Given the description of an element on the screen output the (x, y) to click on. 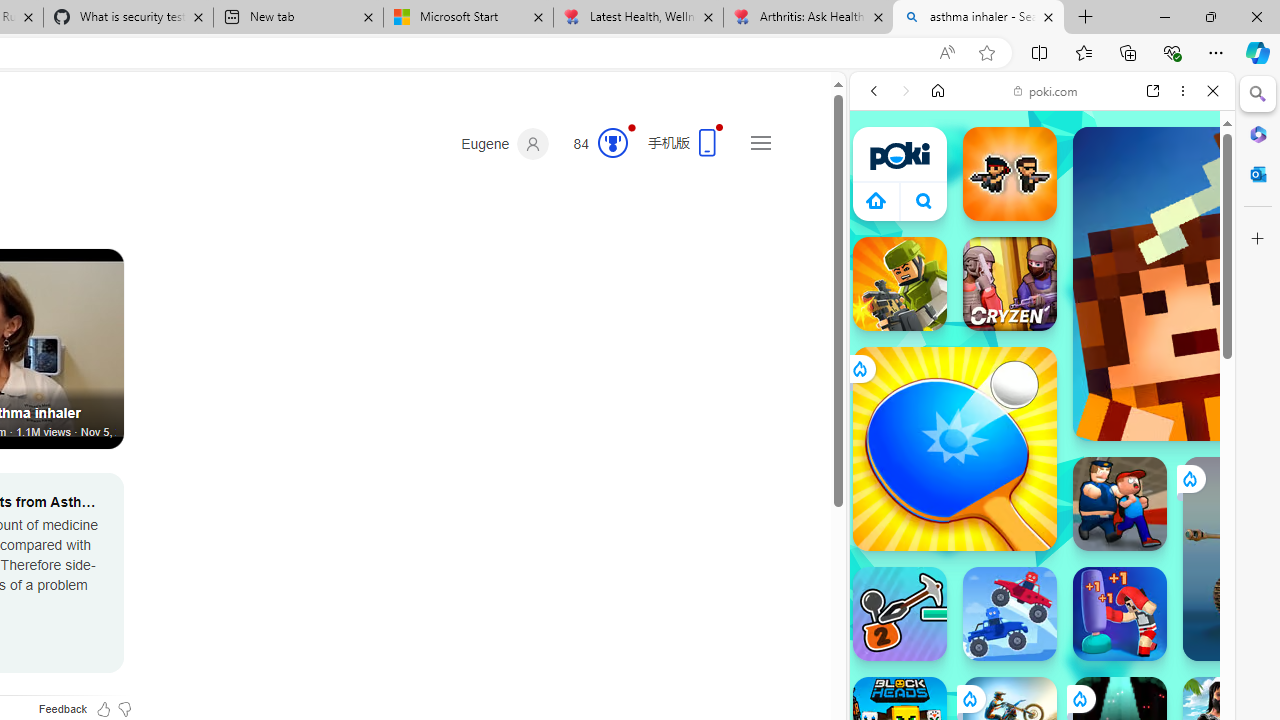
AutomationID: serp_medal_svg (612, 142)
Two Player Games (1042, 568)
